Given the description of an element on the screen output the (x, y) to click on. 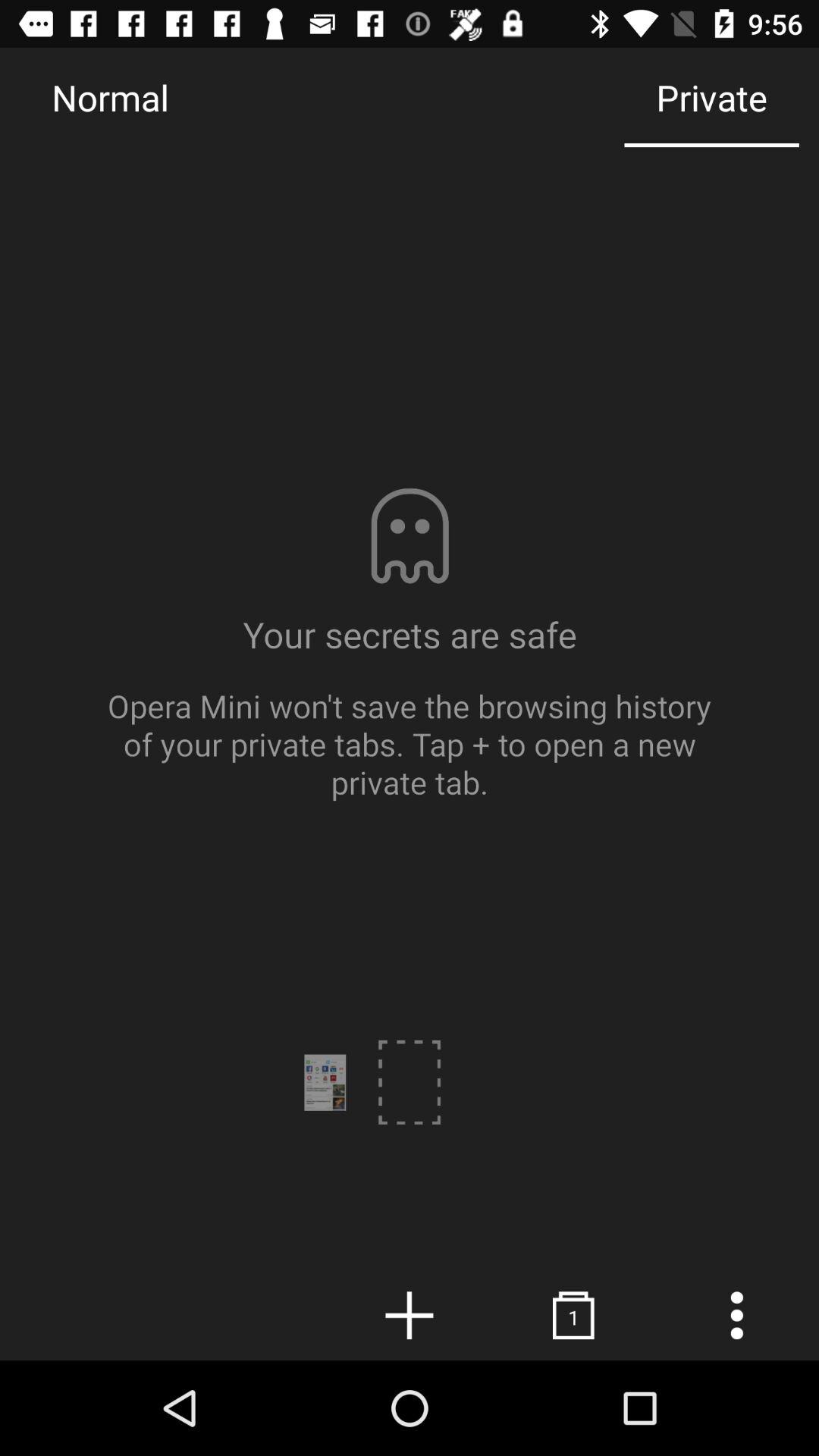
click the private (711, 97)
